Given the description of an element on the screen output the (x, y) to click on. 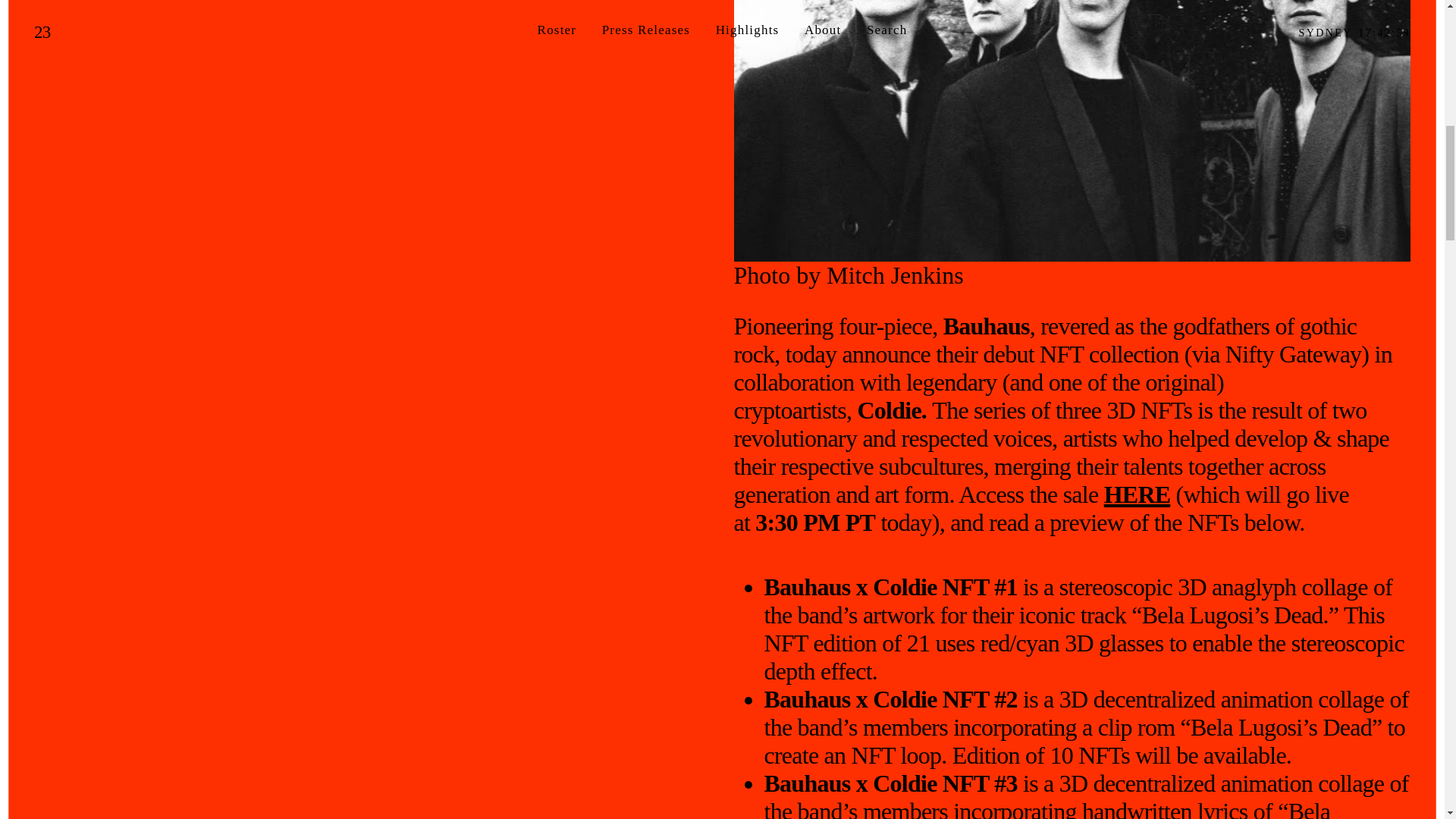
HERE (1136, 494)
